Given the description of an element on the screen output the (x, y) to click on. 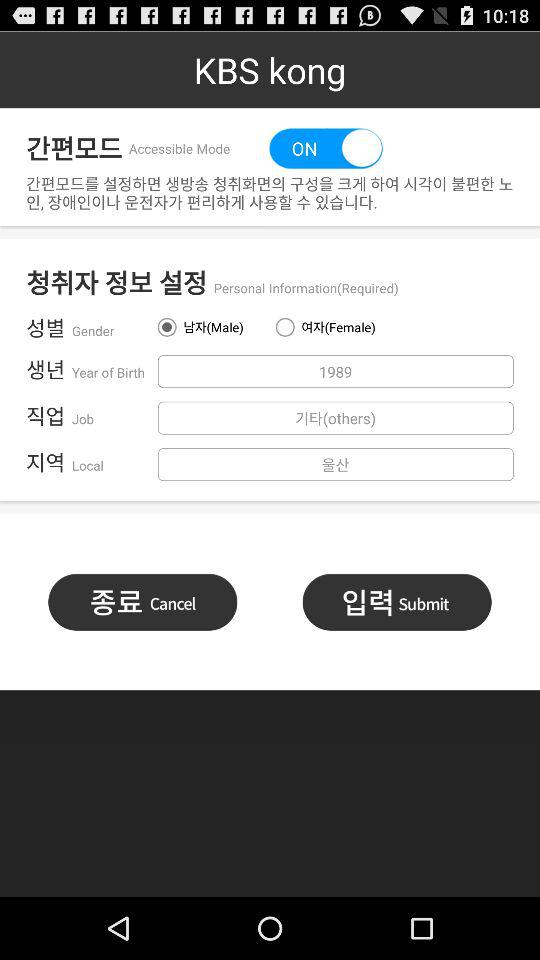
tap app to the right of the job (335, 417)
